Given the description of an element on the screen output the (x, y) to click on. 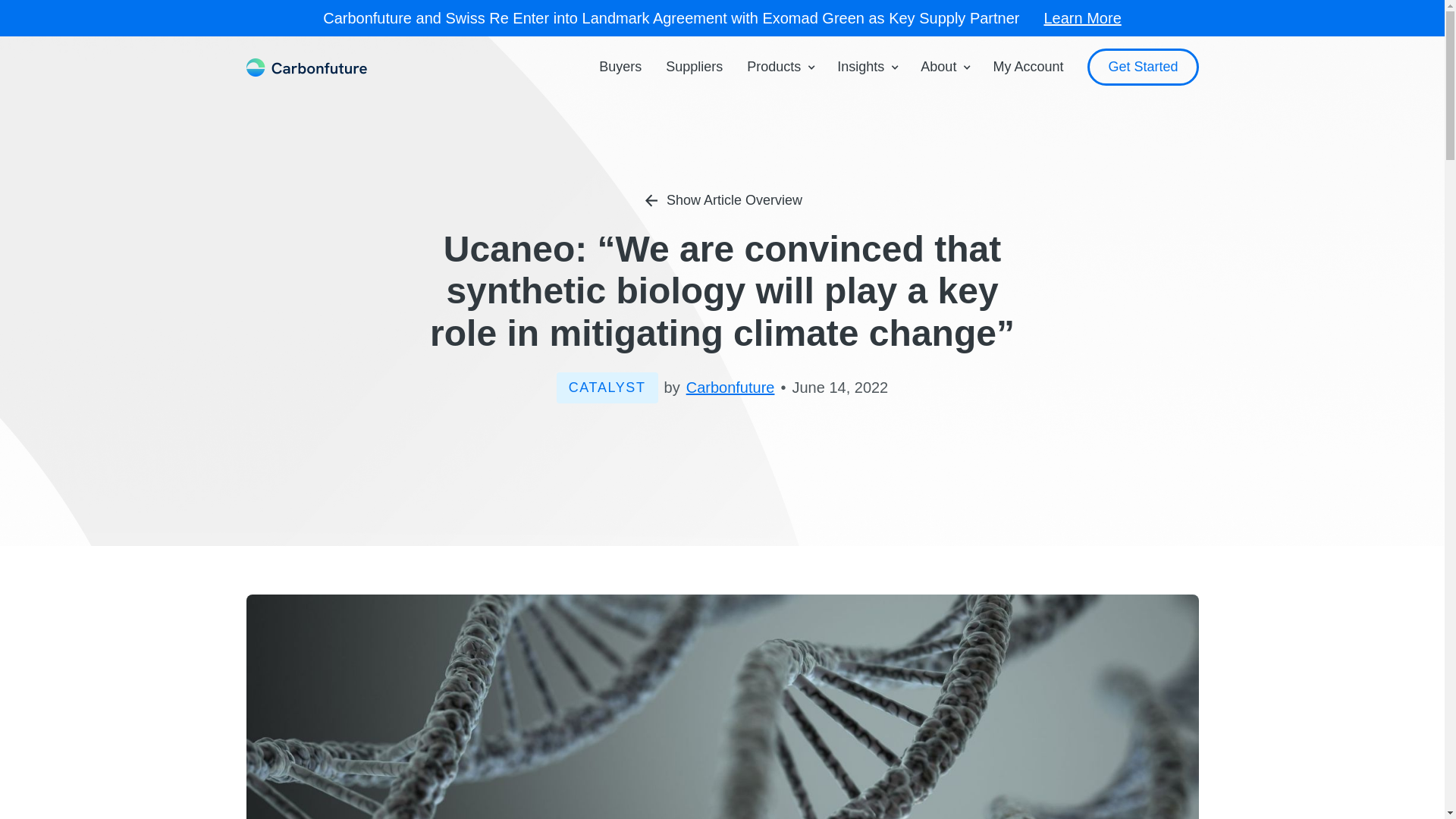
Carbonfuture (729, 386)
Learn More (1082, 17)
Get Started (1142, 66)
Buyers (619, 66)
Suppliers (694, 66)
My Account (1027, 66)
Show Article Overview (722, 199)
